Given the description of an element on the screen output the (x, y) to click on. 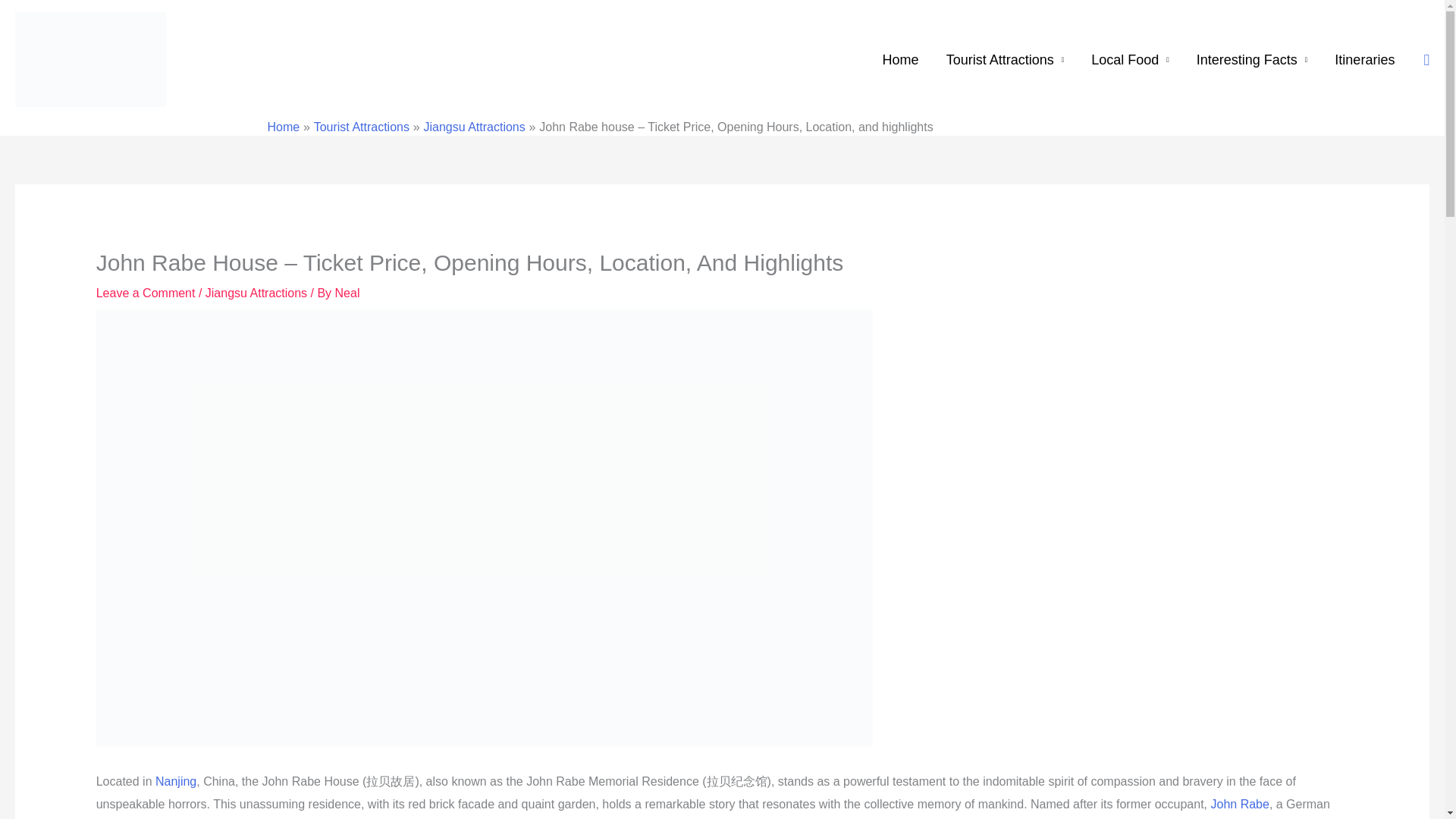
Home (901, 59)
Tourist Attractions (1005, 59)
View all posts by Neal (346, 292)
